Given the description of an element on the screen output the (x, y) to click on. 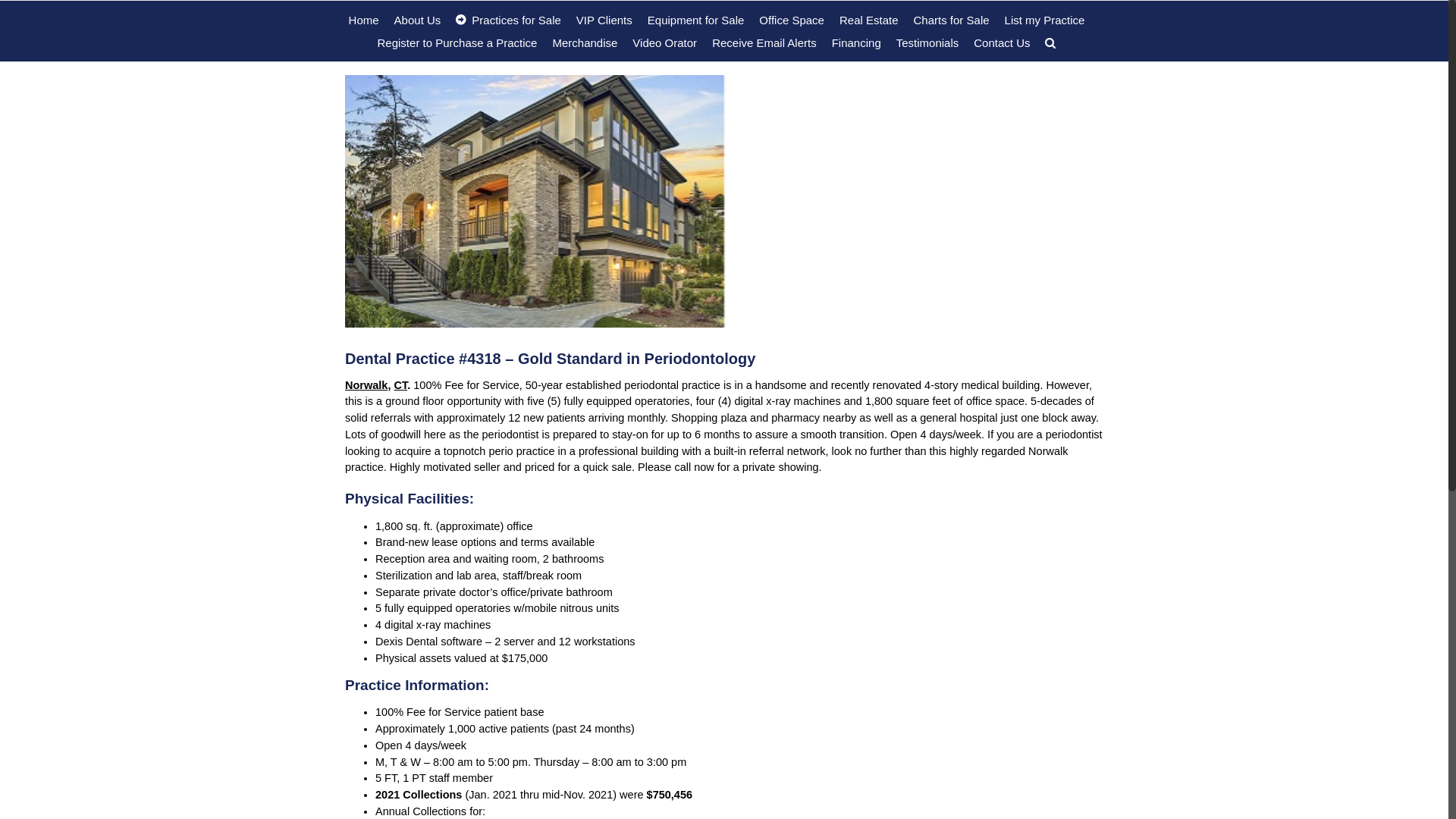
Receive Email Alerts Element type: text (764, 42)
View Larger Image Element type: text (724, 201)
List my Practice Element type: text (1044, 19)
VIP Clients Element type: text (604, 19)
Contact Us Element type: text (1001, 42)
Home Element type: text (363, 19)
Video Orator Element type: text (664, 42)
Practices for Sale Element type: text (508, 19)
Financing Element type: text (856, 42)
Search Element type: hover (1049, 42)
Merchandise Element type: text (584, 42)
Register to Purchase a Practice Element type: text (457, 42)
Charts for Sale Element type: text (951, 19)
About Us Element type: text (417, 19)
Equipment for Sale Element type: text (695, 19)
Real Estate Element type: text (868, 19)
Office Space Element type: text (791, 19)
Testimonials Element type: text (927, 42)
